Given the description of an element on the screen output the (x, y) to click on. 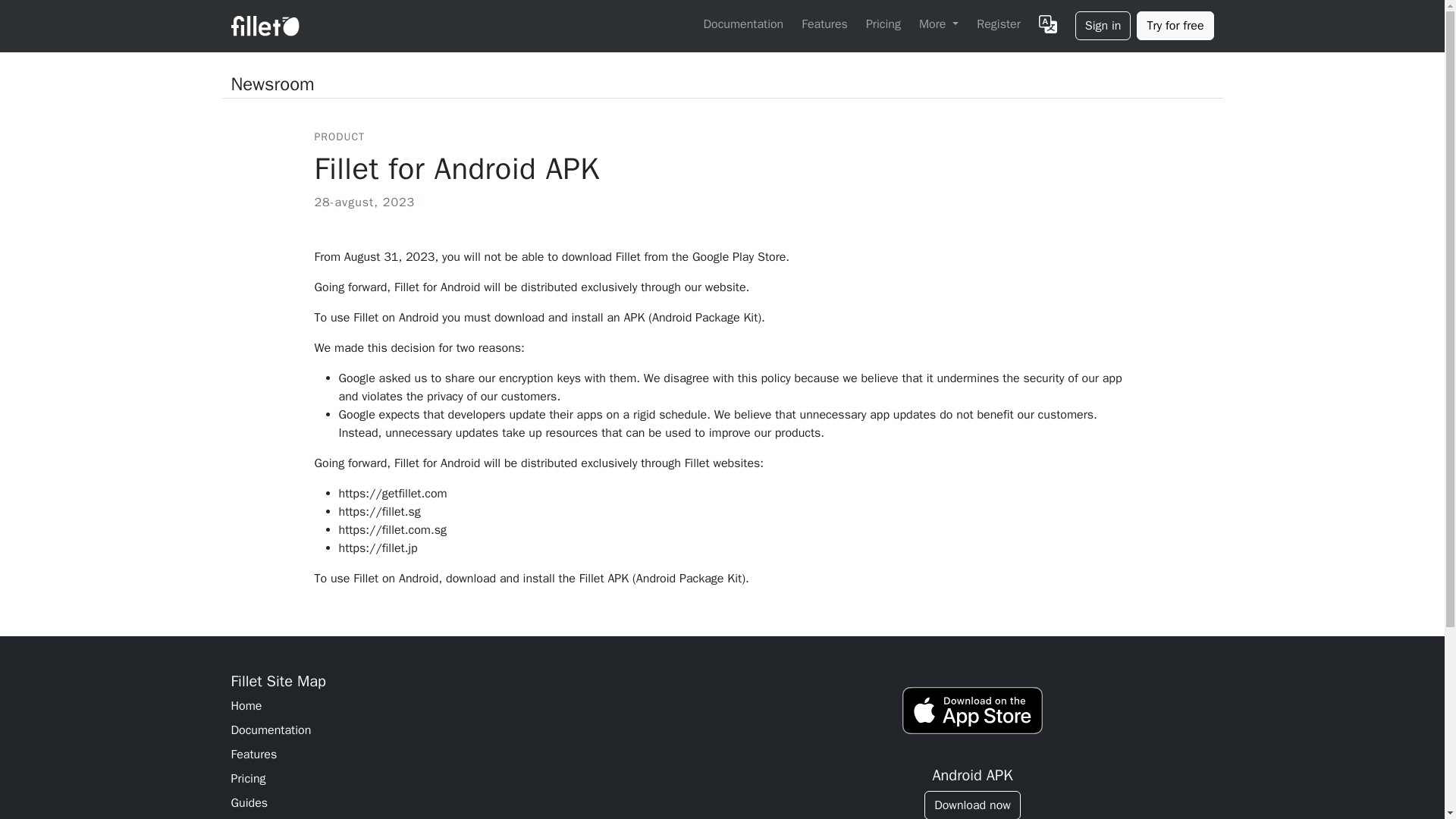
Features (823, 24)
Sign in (1103, 25)
Pricing (883, 24)
Documentation (743, 24)
Newsroom (272, 83)
More (937, 24)
Download now (972, 805)
Documentation (471, 730)
Pricing (471, 778)
Features (471, 754)
Try for free (1174, 25)
Register (998, 24)
Guides (471, 802)
Home (471, 705)
